Given the description of an element on the screen output the (x, y) to click on. 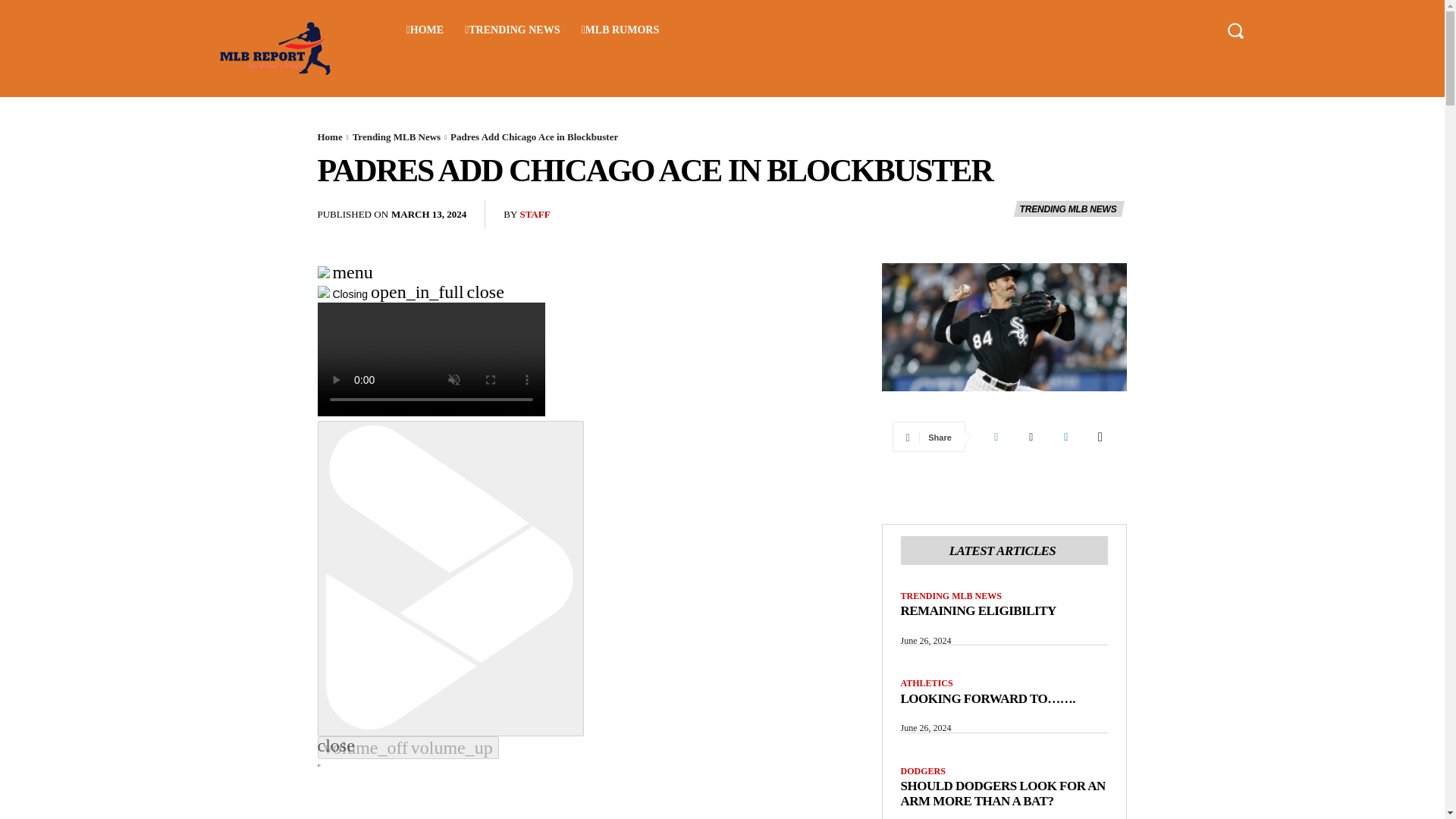
Copy URL (1101, 436)
TRENDING NEWS (512, 30)
dylan-cease-trade.jpg (1003, 326)
Trending MLB News (396, 136)
View all posts in Trending MLB News (396, 136)
Facebook (996, 436)
Home (329, 136)
MLB RUMORS (619, 30)
TRENDING MLB NEWS (1068, 208)
Linkedin (1066, 436)
STAFF (534, 214)
Twitter (1031, 436)
HOME (425, 30)
